Given the description of an element on the screen output the (x, y) to click on. 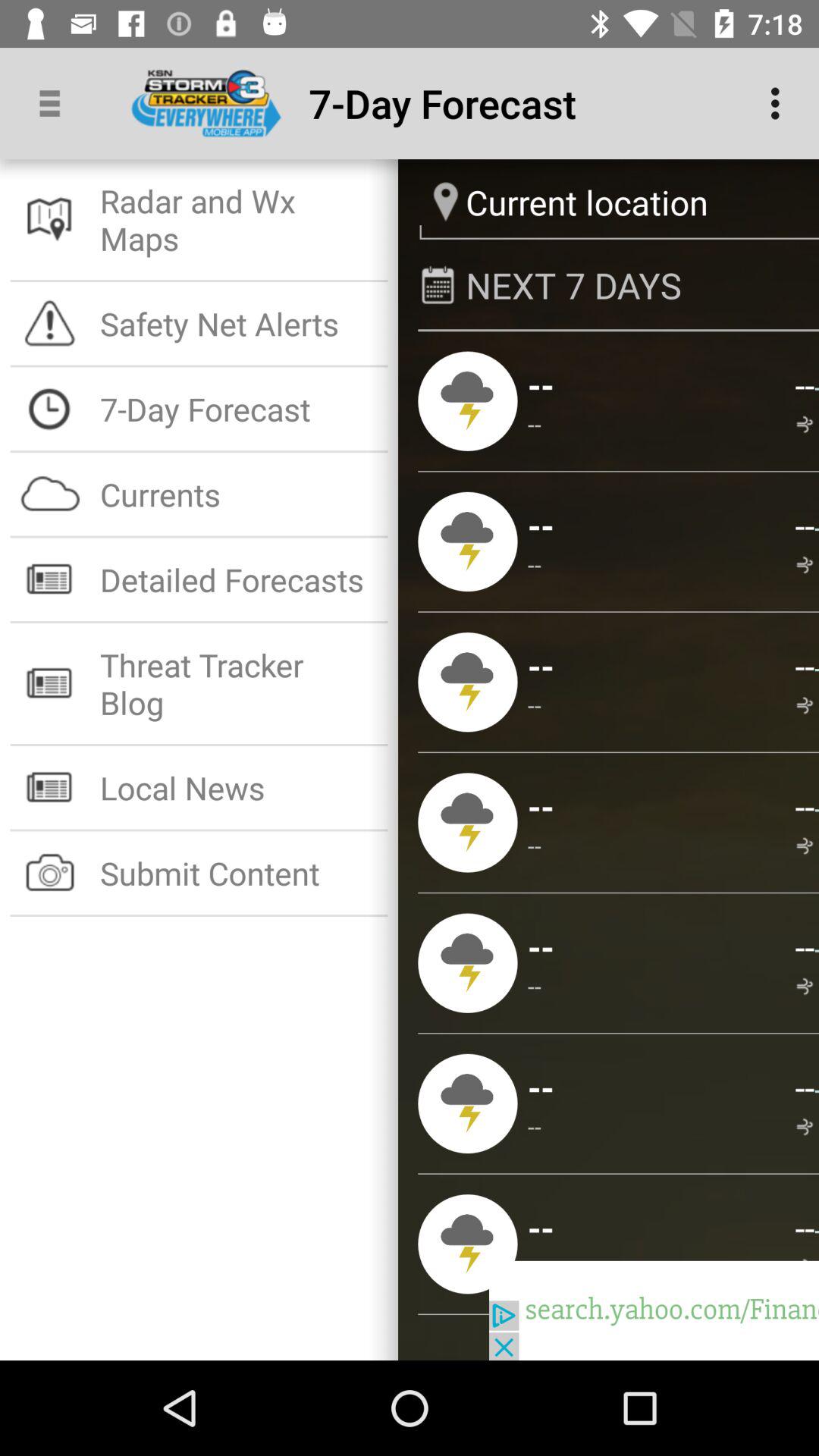
select the 7th icon (467, 1243)
select the second icon which is in white background (50, 322)
select the 7th icon which is in the white background (50, 787)
select the 6th icon which is in the white background (50, 683)
